Given the description of an element on the screen output the (x, y) to click on. 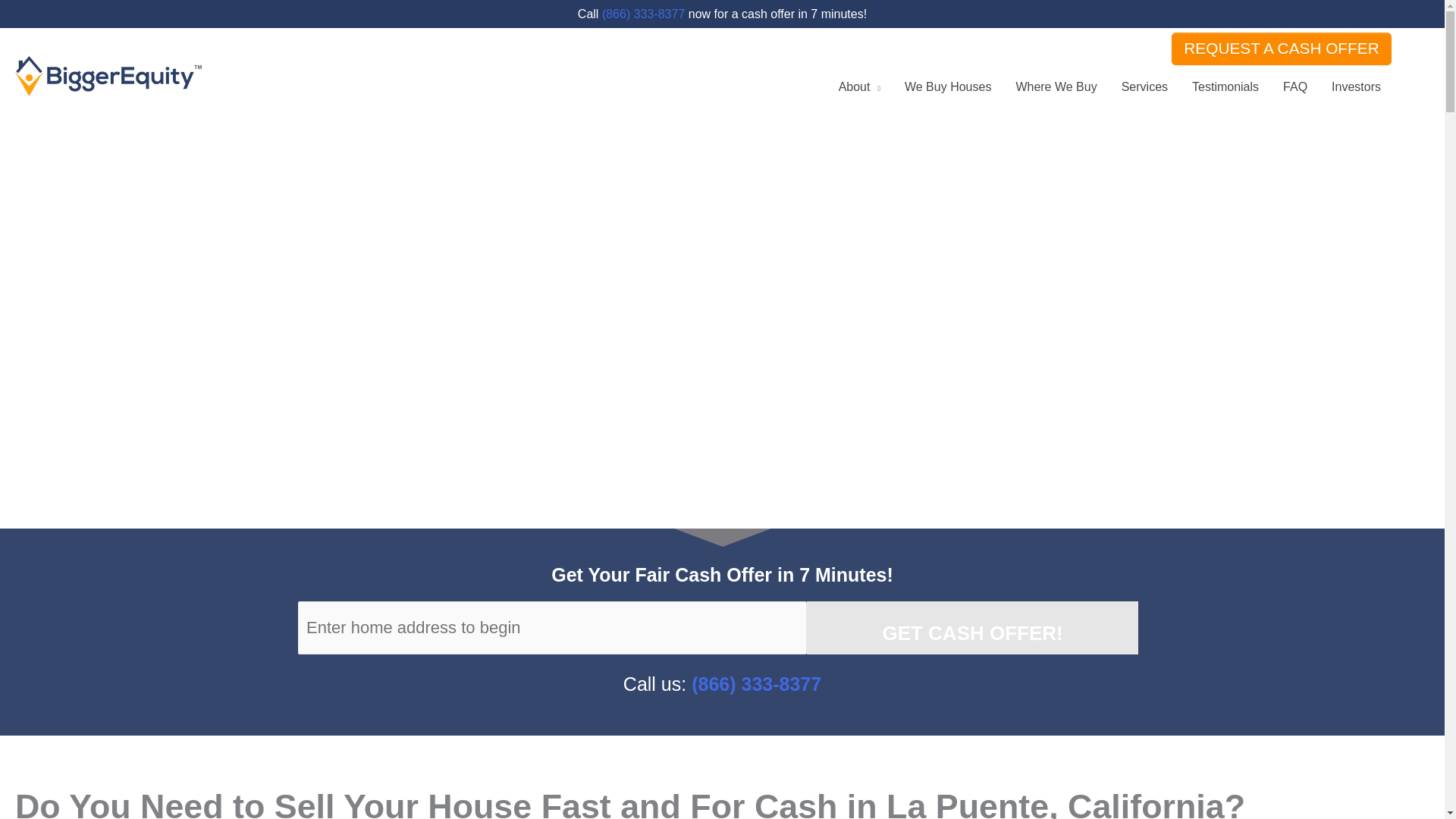
Where We Buy (1055, 87)
FAQ (1295, 87)
Investors (1356, 87)
About (859, 87)
Testimonials (1225, 87)
GET CASH OFFER! (971, 627)
REQUEST A CASH OFFER (1281, 48)
We Buy Houses (947, 87)
GET CASH OFFER! (971, 627)
Services (1144, 87)
